Given the description of an element on the screen output the (x, y) to click on. 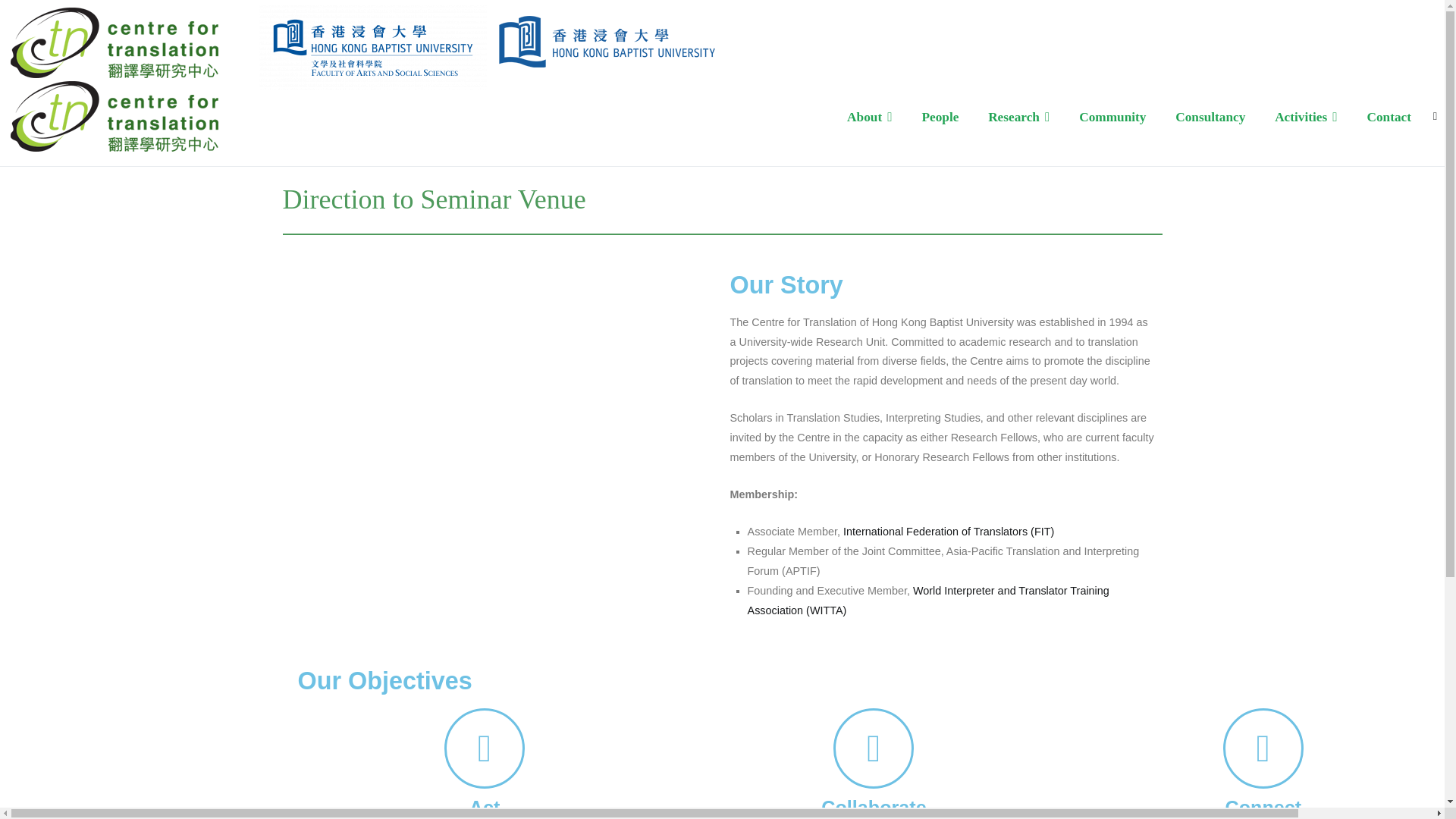
About (869, 116)
Centre for Translation, HKBU (330, 126)
People (939, 116)
Community (1111, 116)
Consultancy (1209, 116)
Research (1018, 116)
Contact (1388, 116)
Activities (1306, 116)
